Given the description of an element on the screen output the (x, y) to click on. 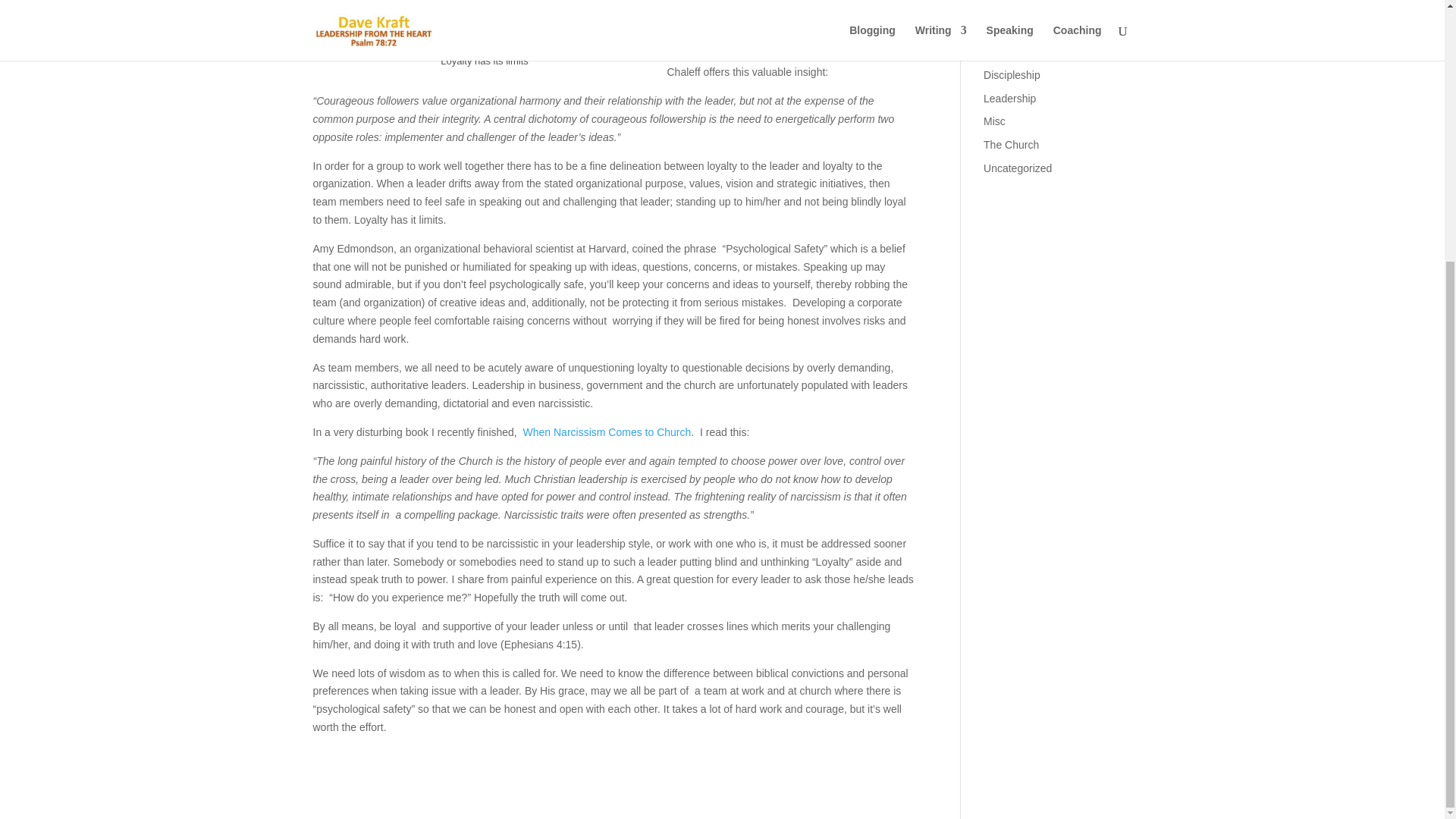
Discipleship (1012, 74)
The Church (1011, 144)
The Courageous Follower  (788, 45)
Leadership (1009, 98)
Misc (995, 121)
Uncategorized (1017, 168)
When Narcissism Comes to Church (606, 431)
